Given the description of an element on the screen output the (x, y) to click on. 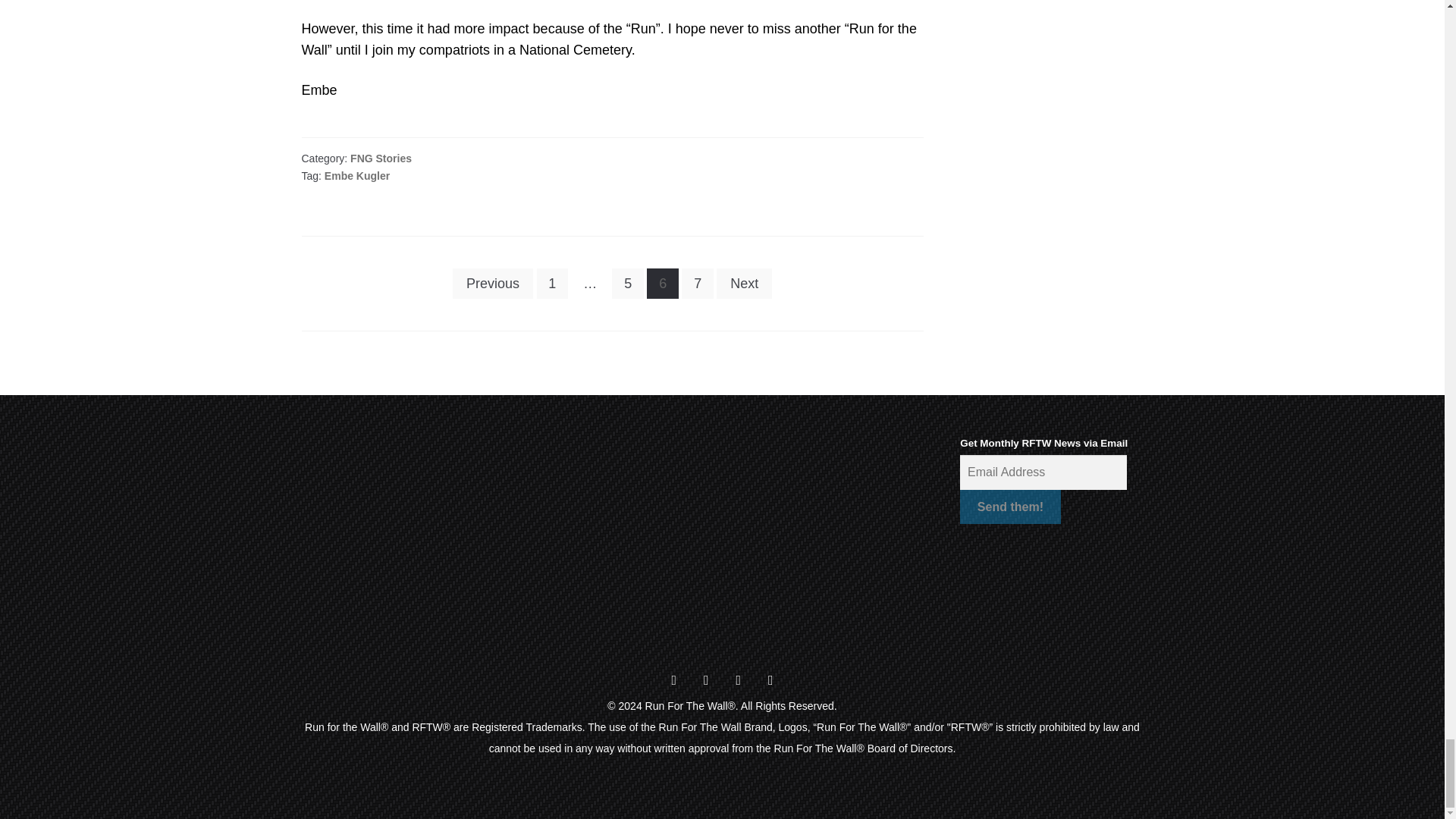
Send them! (1009, 506)
